Given the description of an element on the screen output the (x, y) to click on. 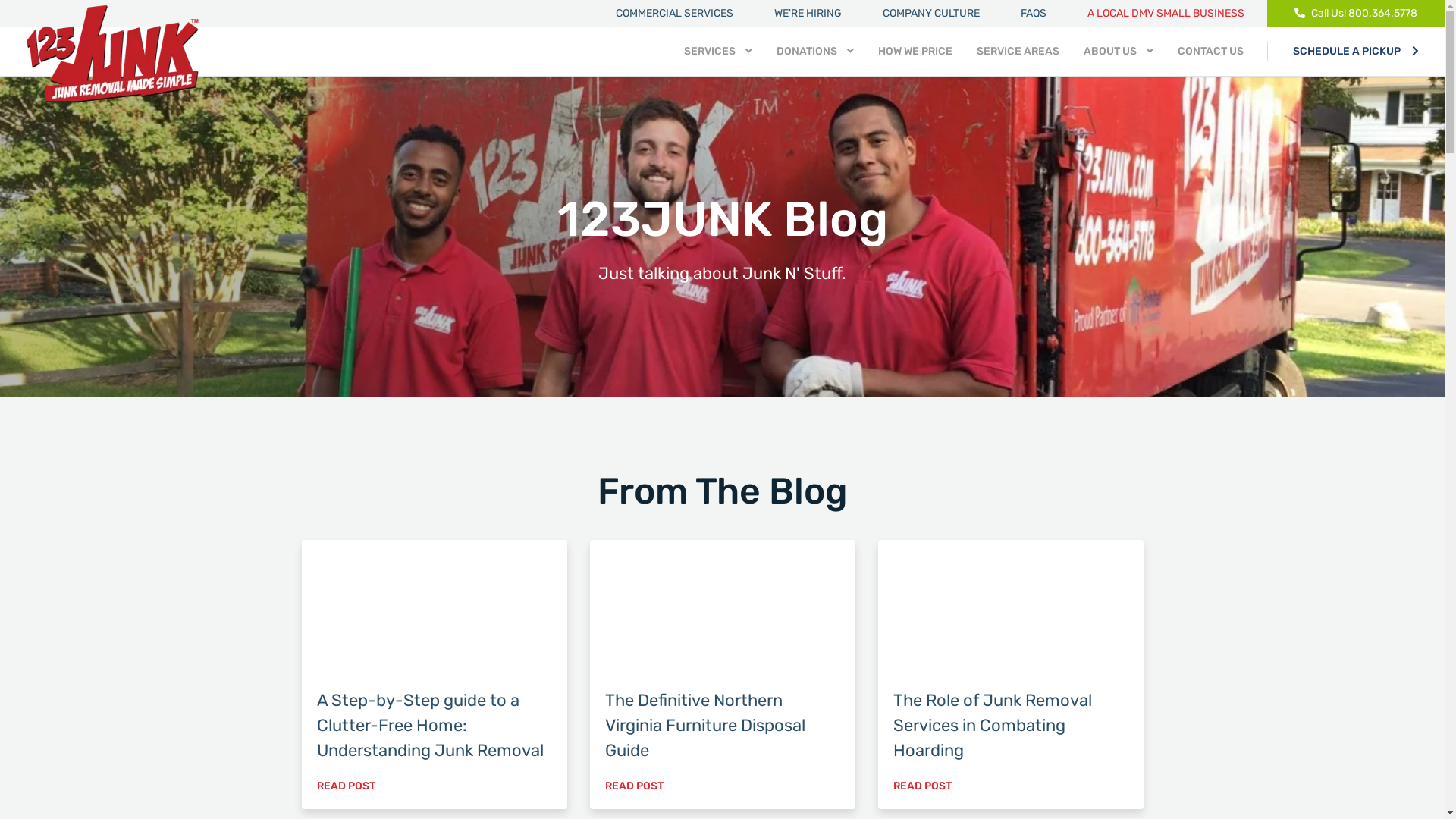
SERVICES Element type: text (718, 50)
SCHEDULE A PICKUP Element type: text (1355, 50)
SERVICE AREAS Element type: text (1017, 50)
COMMERCIAL SERVICES Element type: text (674, 12)
COMPANY CULTURE Element type: text (930, 12)
WE'RE HIRING Element type: text (807, 12)
FAQS Element type: text (1033, 12)
DONATIONS Element type: text (814, 50)
CONTACT US Element type: text (1210, 50)
ABOUT US Element type: text (1118, 50)
HOW WE PRICE Element type: text (915, 50)
Call Us! 800.364.5778 Element type: text (1355, 13)
